Given the description of an element on the screen output the (x, y) to click on. 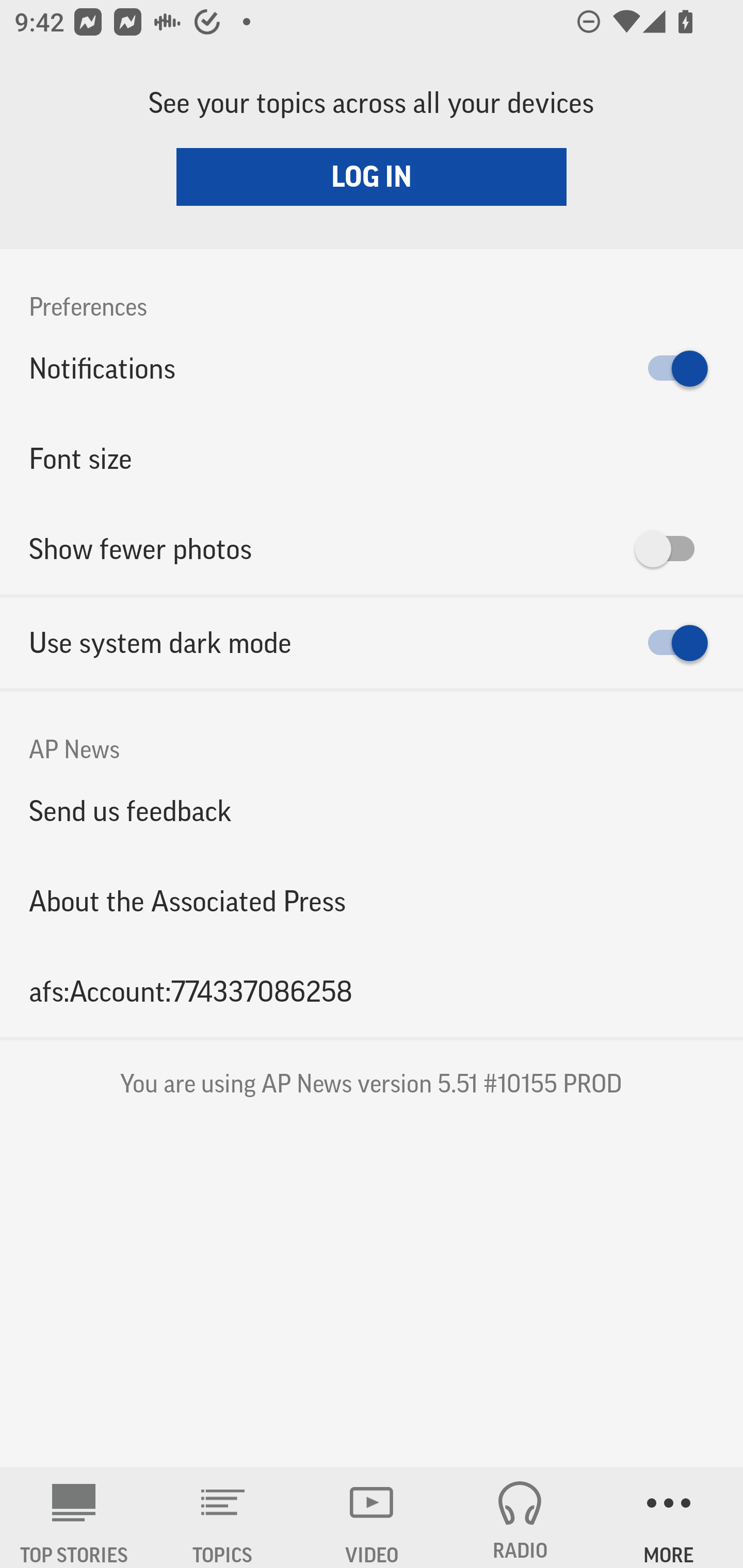
LOG IN (371, 176)
Notifications (371, 368)
Font size (371, 458)
Show fewer photos (371, 548)
Use system dark mode (371, 642)
Send us feedback (371, 810)
About the Associated Press (371, 901)
afs:Account:774337086258 (371, 991)
AP News TOP STORIES (74, 1517)
TOPICS (222, 1517)
VIDEO (371, 1517)
RADIO (519, 1517)
MORE (668, 1517)
